Given the description of an element on the screen output the (x, y) to click on. 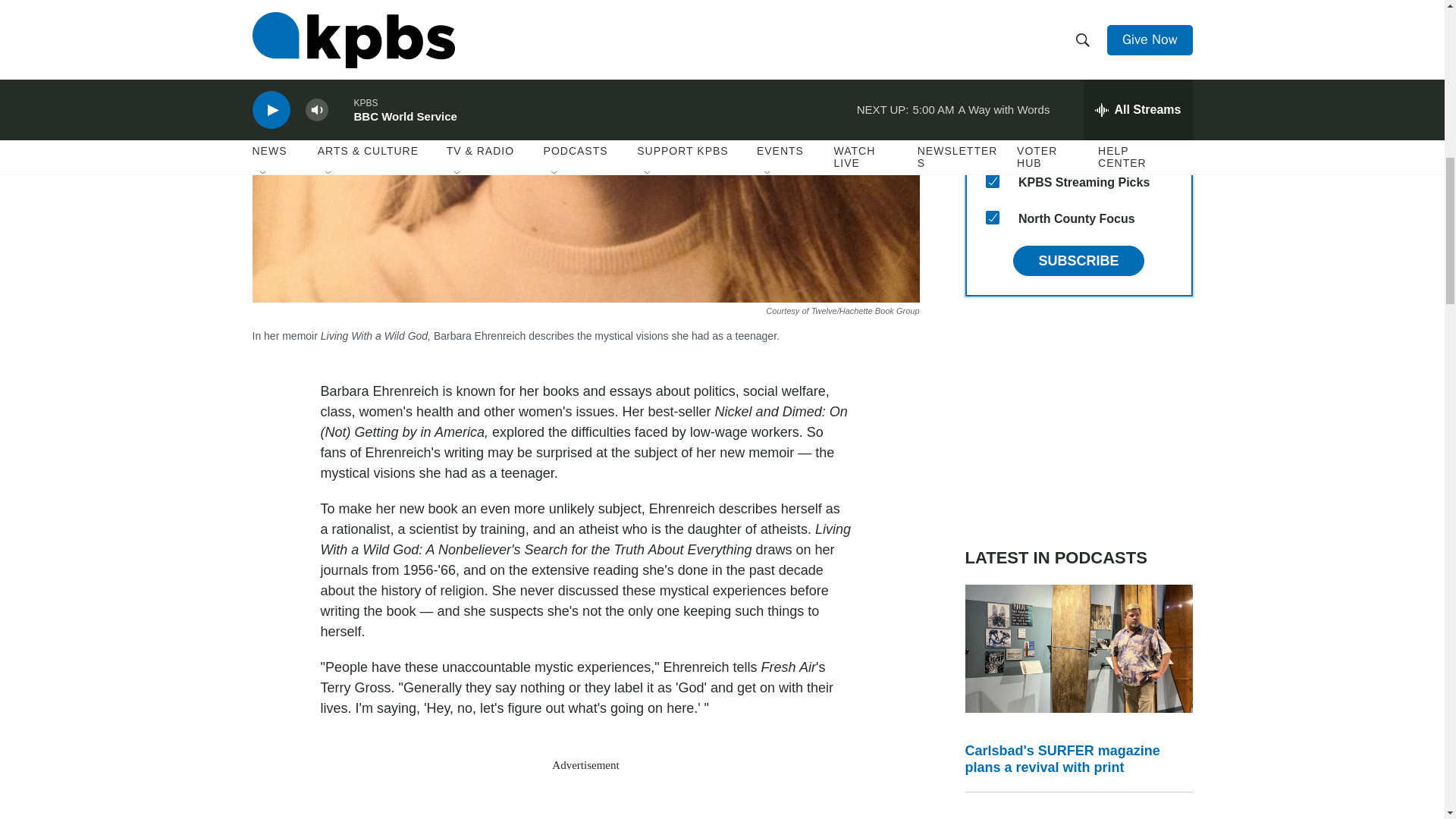
3rd party ad content (584, 800)
2 (991, 108)
6 (991, 71)
8 (991, 181)
4 (991, 2)
3rd party ad content (1077, 421)
15 (991, 217)
5 (991, 35)
1 (991, 144)
